Given the description of an element on the screen output the (x, y) to click on. 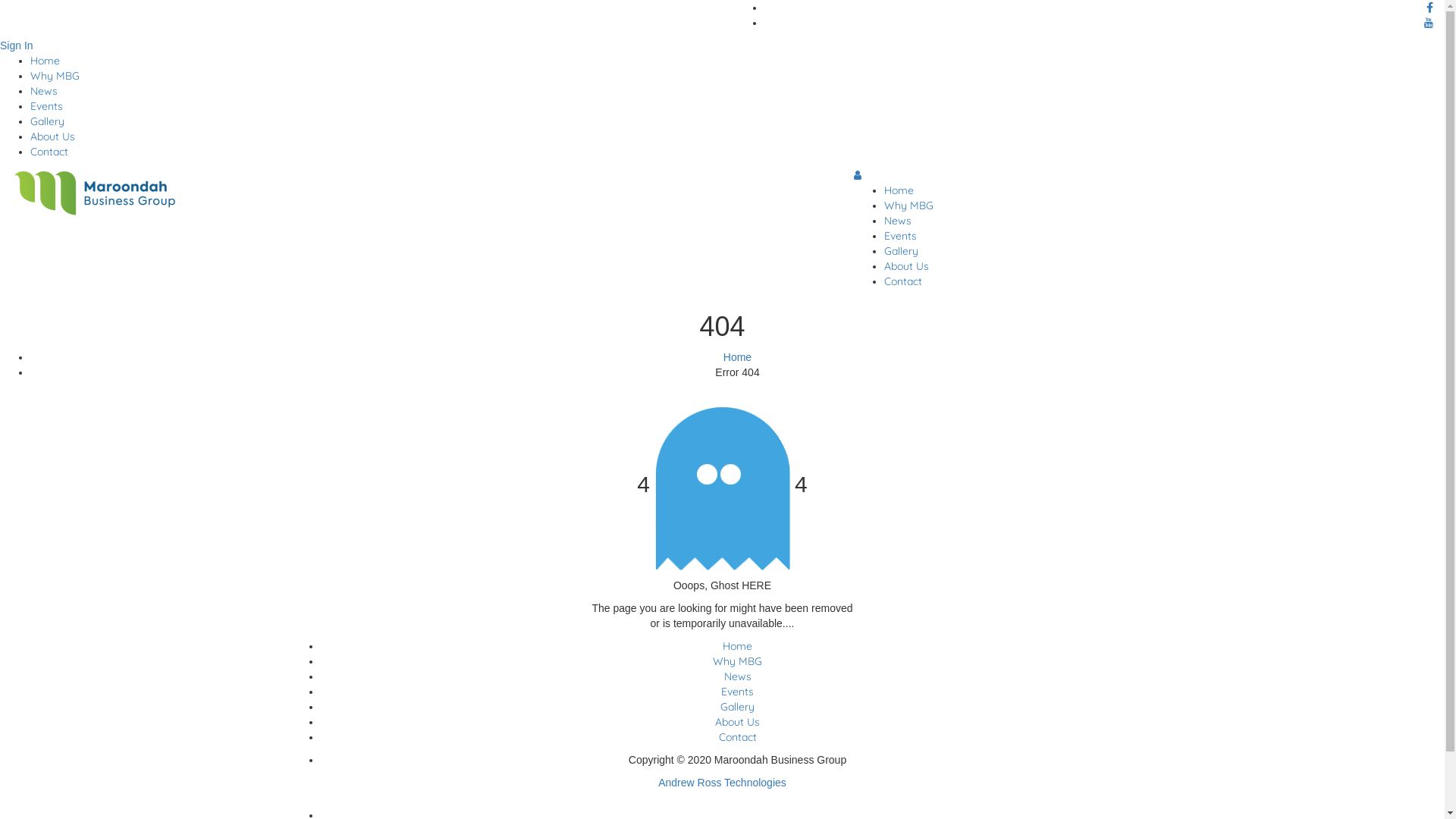
Contact Element type: text (49, 151)
Andrew Ross Technologies Element type: text (722, 782)
Home Element type: text (44, 60)
Events Element type: text (900, 235)
Gallery Element type: text (47, 121)
Why MBG Element type: text (54, 75)
Sign In Element type: text (16, 45)
Why MBG Element type: text (737, 661)
Events Element type: text (737, 691)
Why MBG Element type: text (908, 205)
Events Element type: text (46, 105)
Home Element type: text (898, 190)
Contact Element type: text (737, 736)
About Us Element type: text (52, 136)
Home Element type: text (737, 357)
About Us Element type: text (906, 266)
About Us Element type: text (737, 721)
Gallery Element type: text (901, 250)
Home Element type: text (737, 645)
Contact Element type: text (903, 281)
Gallery Element type: text (737, 706)
News Element type: text (736, 676)
News Element type: text (43, 90)
News Element type: text (897, 220)
